Given the description of an element on the screen output the (x, y) to click on. 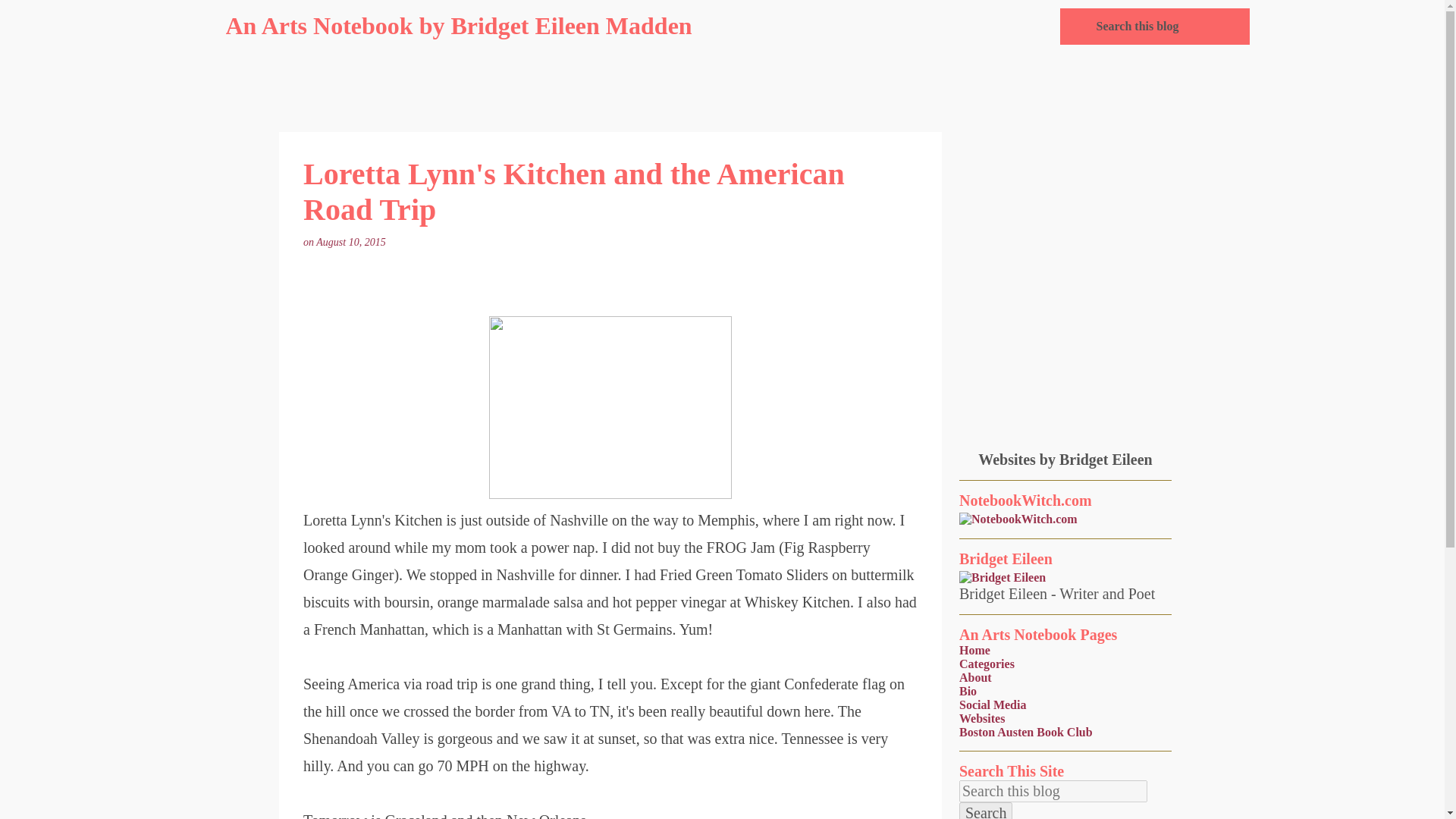
Search (985, 810)
Websites (981, 717)
About (975, 676)
Email Post (397, 242)
permanent link (351, 242)
Search (985, 810)
Boston Austen Book Club (1026, 731)
Categories (986, 663)
Home (974, 649)
Bio (967, 690)
